Given the description of an element on the screen output the (x, y) to click on. 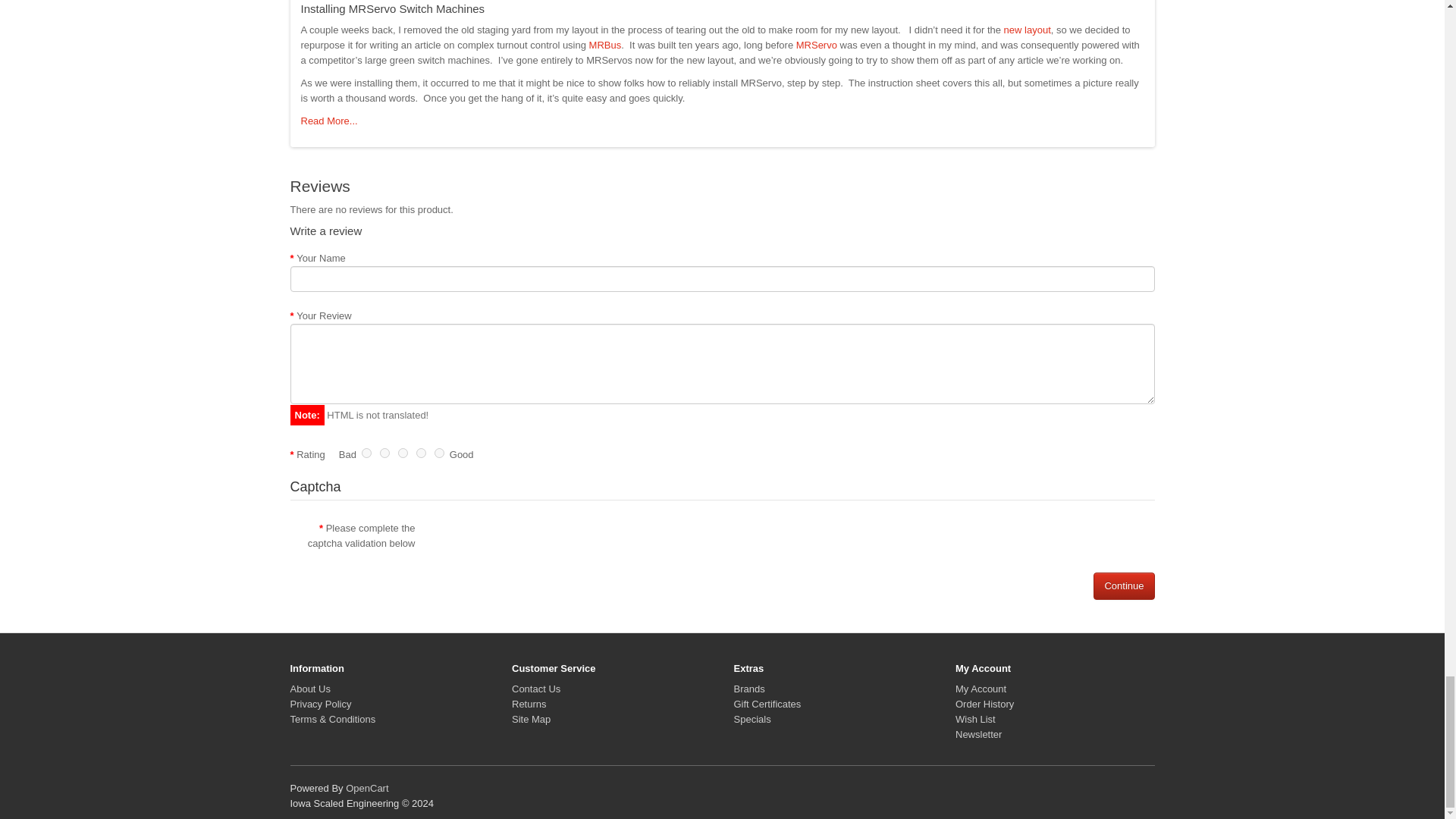
1 (366, 452)
4 (421, 452)
3 (402, 452)
2 (385, 452)
5 (438, 452)
